Given the description of an element on the screen output the (x, y) to click on. 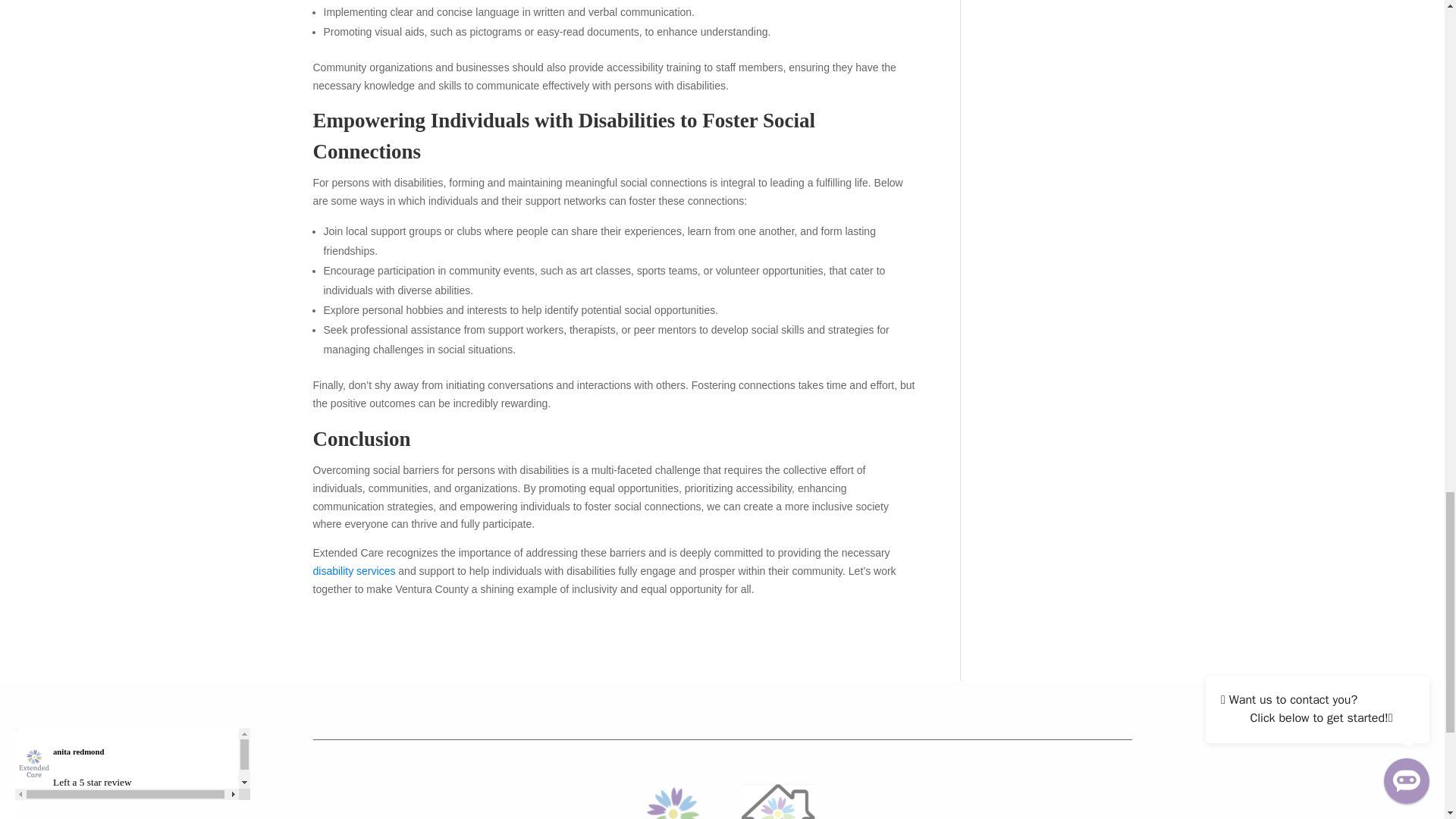
disability services (353, 571)
Untitled design - 2023-12-02T055446.737 (721, 798)
